Given the description of an element on the screen output the (x, y) to click on. 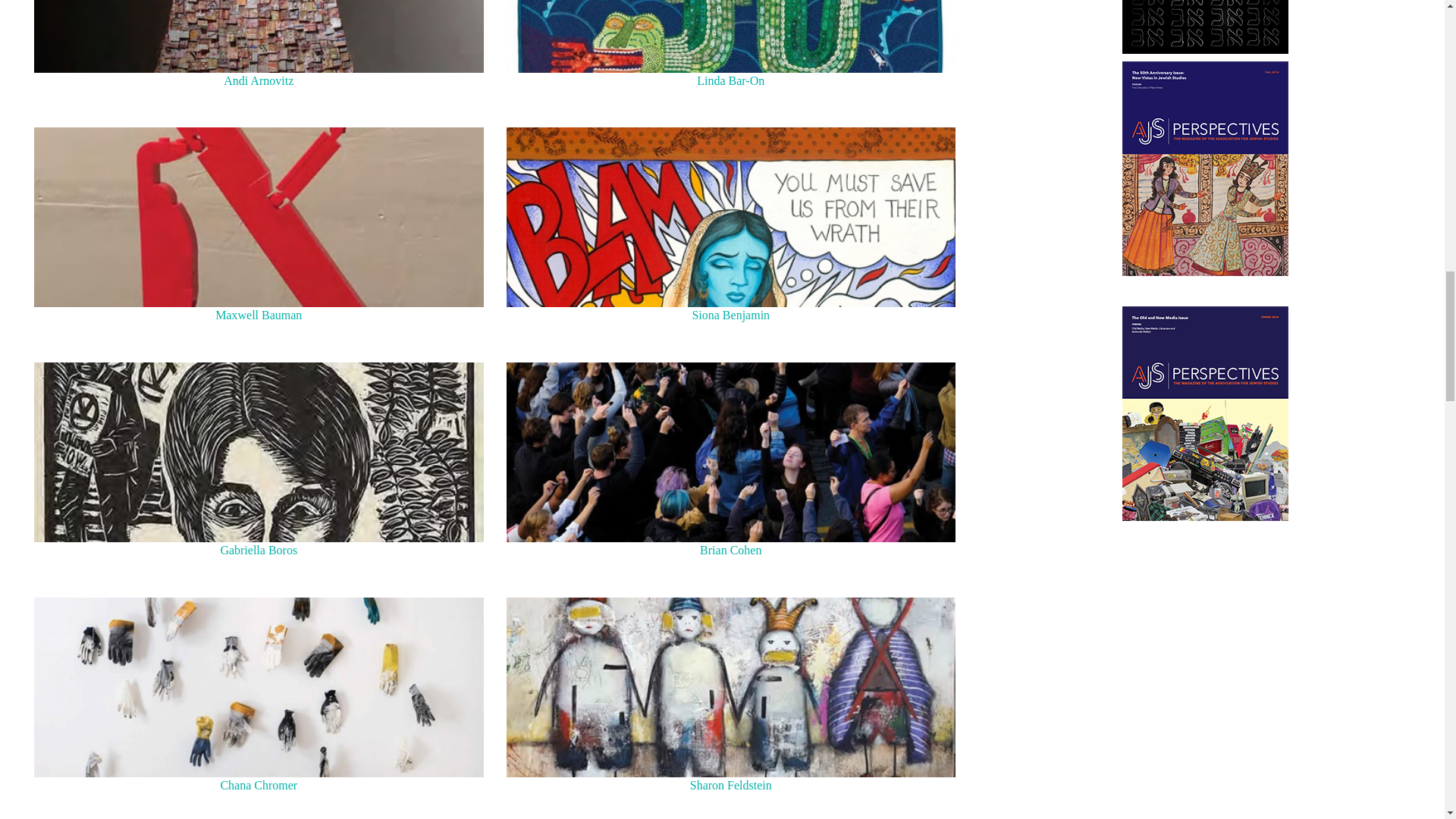
Maxwell Bauman (258, 217)
GABRIELLA BOROS (258, 452)
ANDI ARNOVITZ (258, 36)
SIONA BENJAMIN (731, 217)
Chana Chromer (258, 687)
Brian Cohen (731, 452)
Sharon Feldstein (731, 687)
LINDA BAR-ON (731, 36)
